Given the description of an element on the screen output the (x, y) to click on. 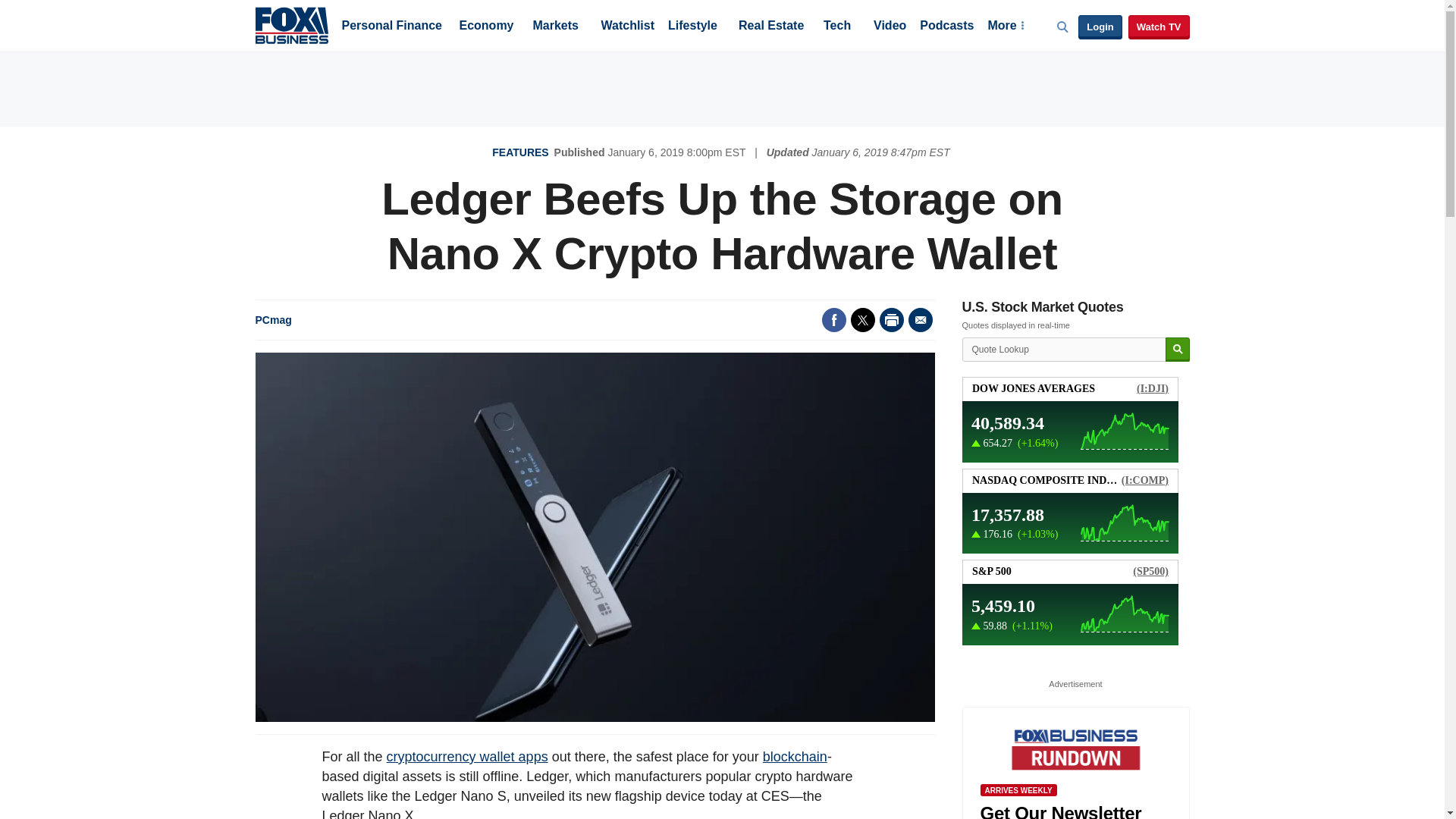
Economy (486, 27)
Personal Finance (391, 27)
Markets (555, 27)
Podcasts (947, 27)
Login (1099, 27)
Lifestyle (692, 27)
Video (889, 27)
Real Estate (770, 27)
Search (1176, 349)
Watch TV (1158, 27)
Tech (837, 27)
More (1005, 27)
Fox Business (290, 24)
Search (1176, 349)
Watchlist (626, 27)
